Given the description of an element on the screen output the (x, y) to click on. 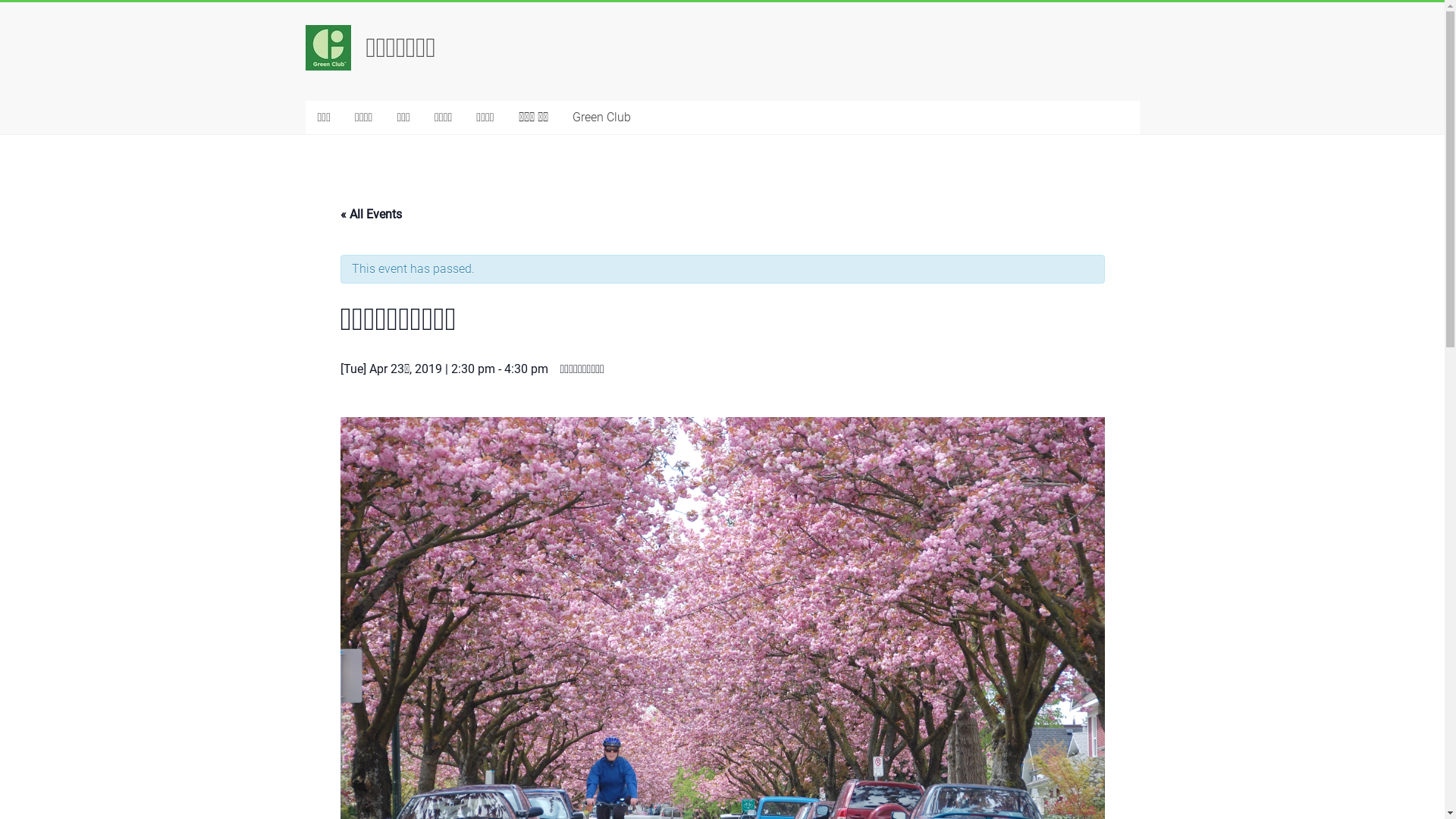
Green Club Element type: text (601, 117)
